Given the description of an element on the screen output the (x, y) to click on. 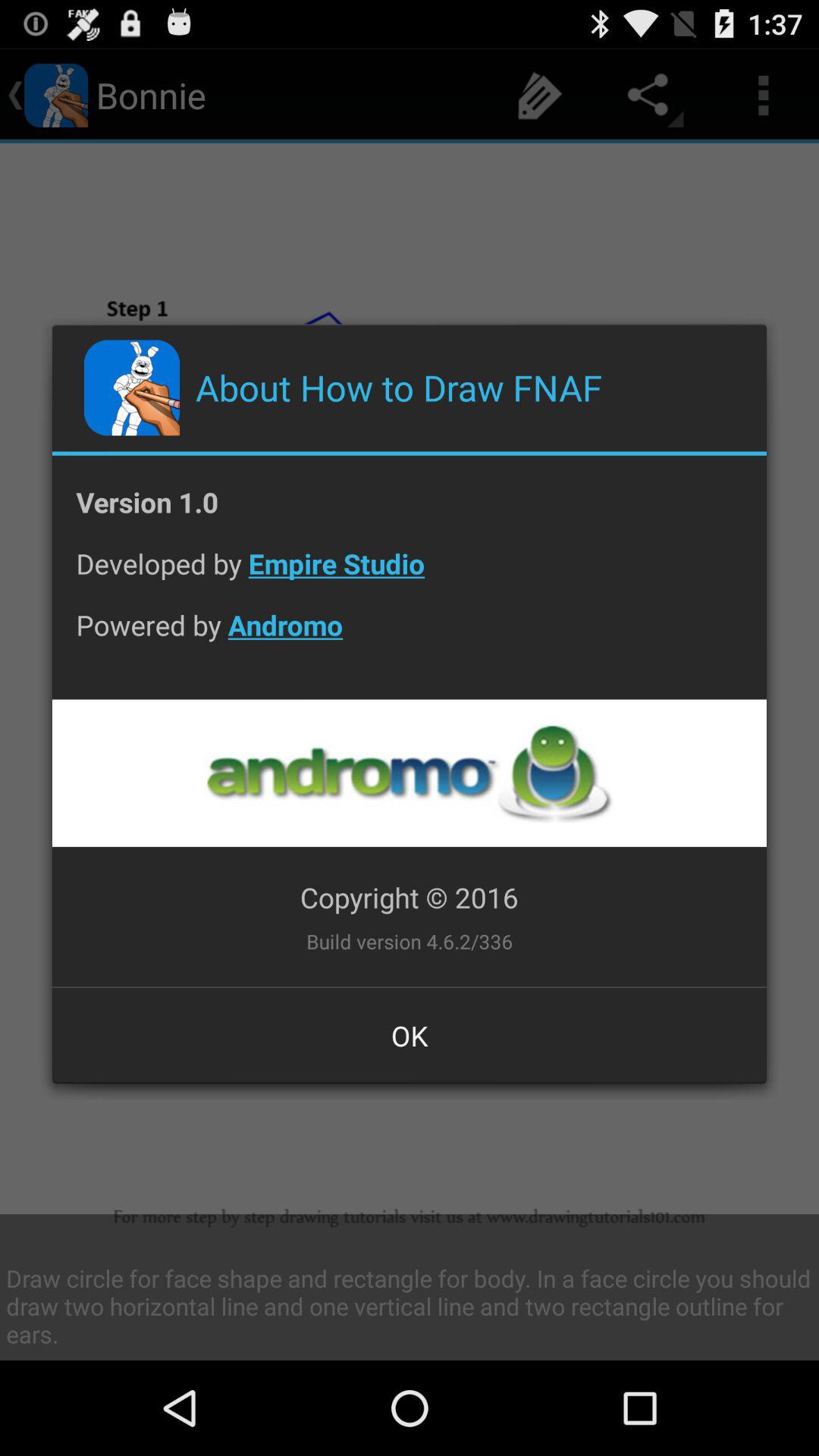
turn off button at the bottom (409, 1035)
